Given the description of an element on the screen output the (x, y) to click on. 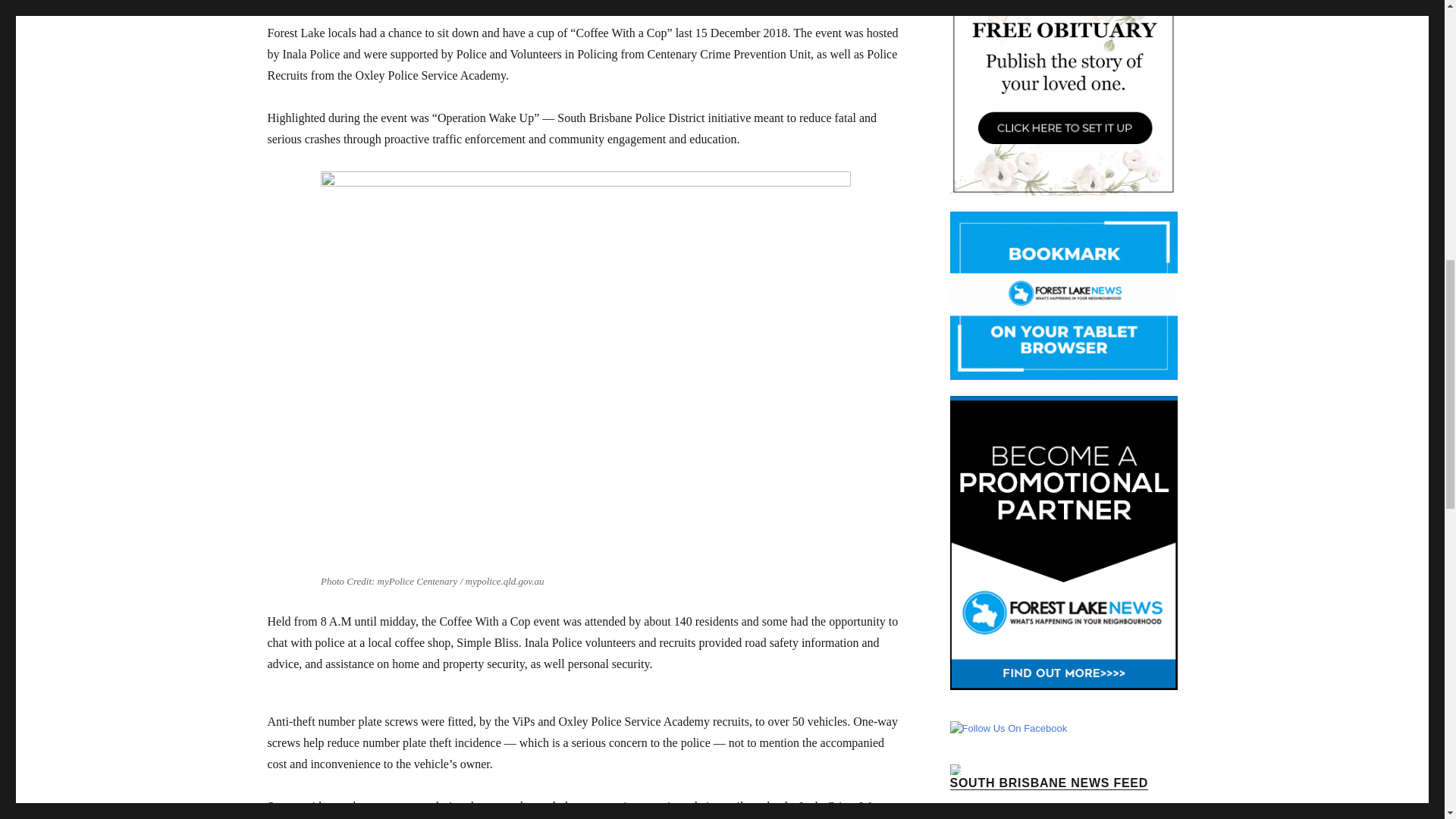
SOUTH BRISBANE NEWS FEED (1048, 782)
